Given the description of an element on the screen output the (x, y) to click on. 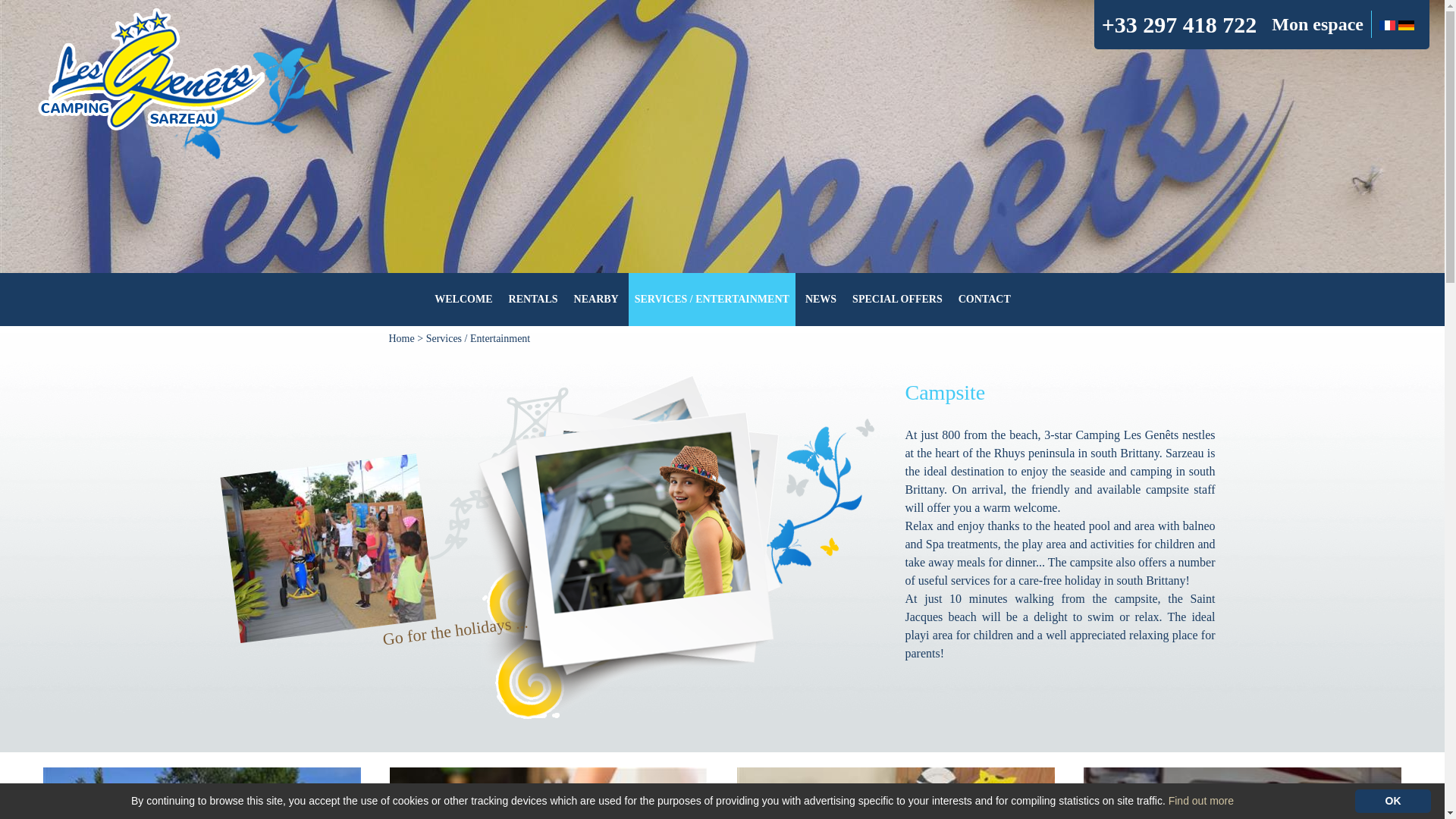
Tourism and leisure around Sarzeau (595, 298)
WELCOME (462, 298)
Deutsch Version (1405, 23)
RENTALS (533, 298)
Campsite (177, 82)
NEARBY (595, 298)
Mon espace (1316, 24)
